Given the description of an element on the screen output the (x, y) to click on. 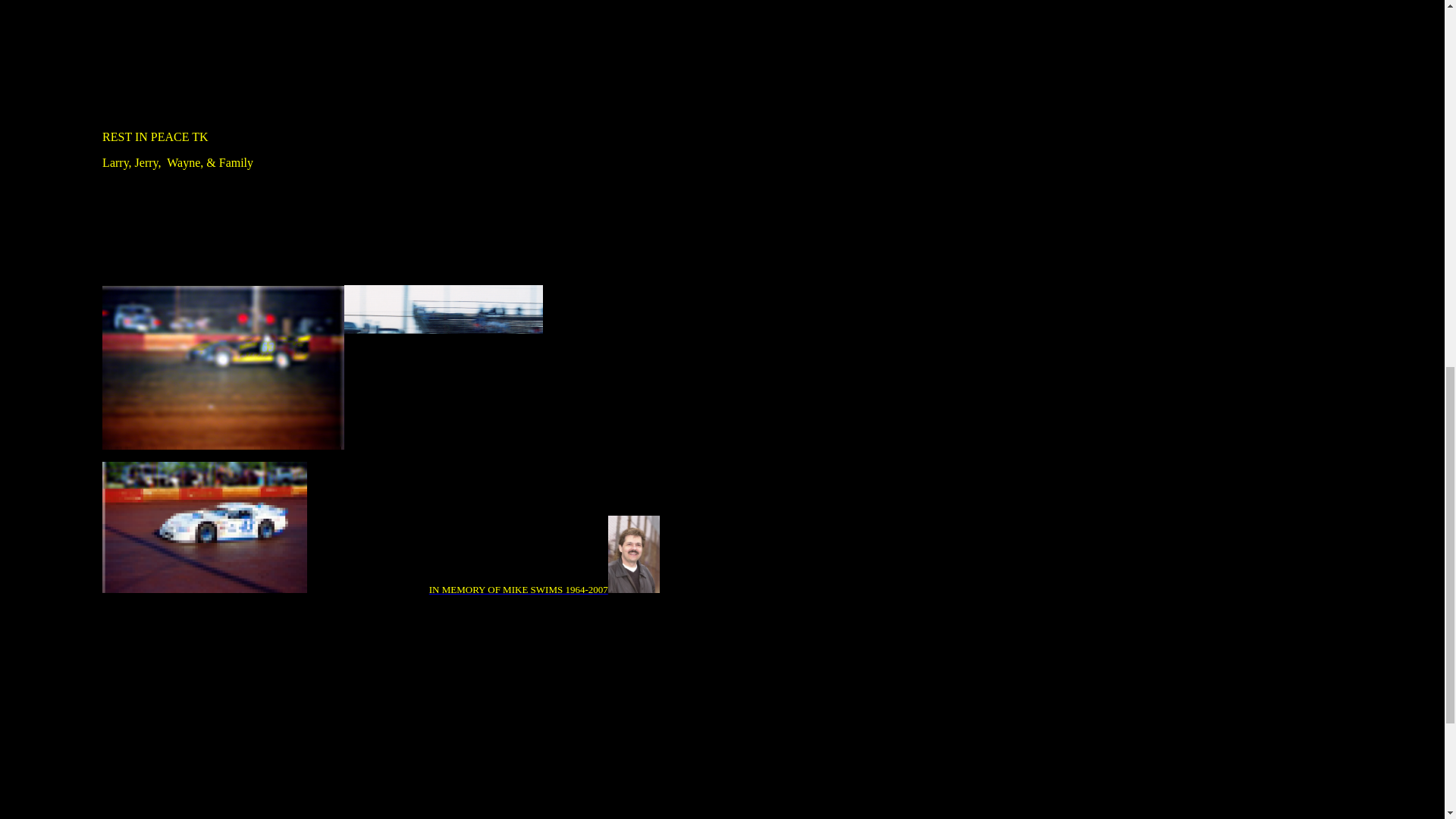
IN MEMORY OF MIKE SWIMS 1964-2007 (518, 589)
